Given the description of an element on the screen output the (x, y) to click on. 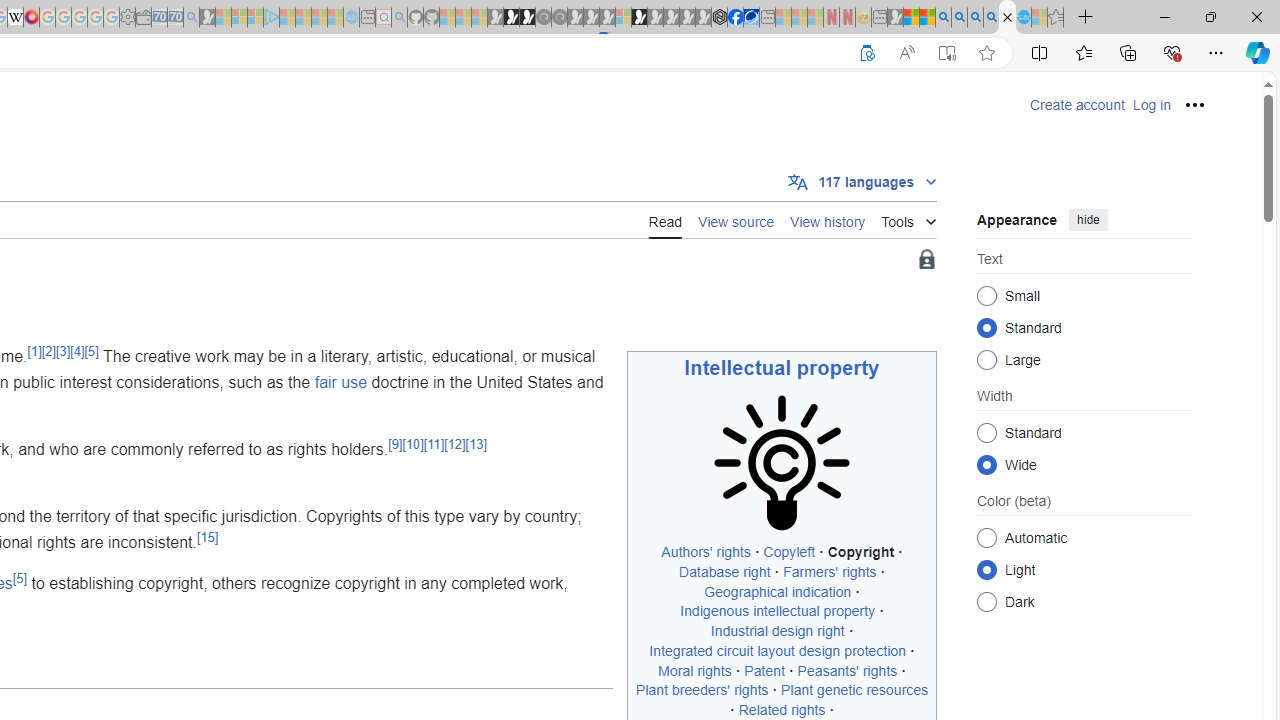
Automatic (986, 537)
Patent (764, 669)
Integrated circuit layout design protection (777, 650)
Personal tools (1194, 104)
Page semi-protected (926, 259)
Microsoft Start Gaming - Sleeping (207, 17)
fair use (340, 381)
Play Zoo Boom in your browser | Games from Microsoft Start (511, 17)
